Given the description of an element on the screen output the (x, y) to click on. 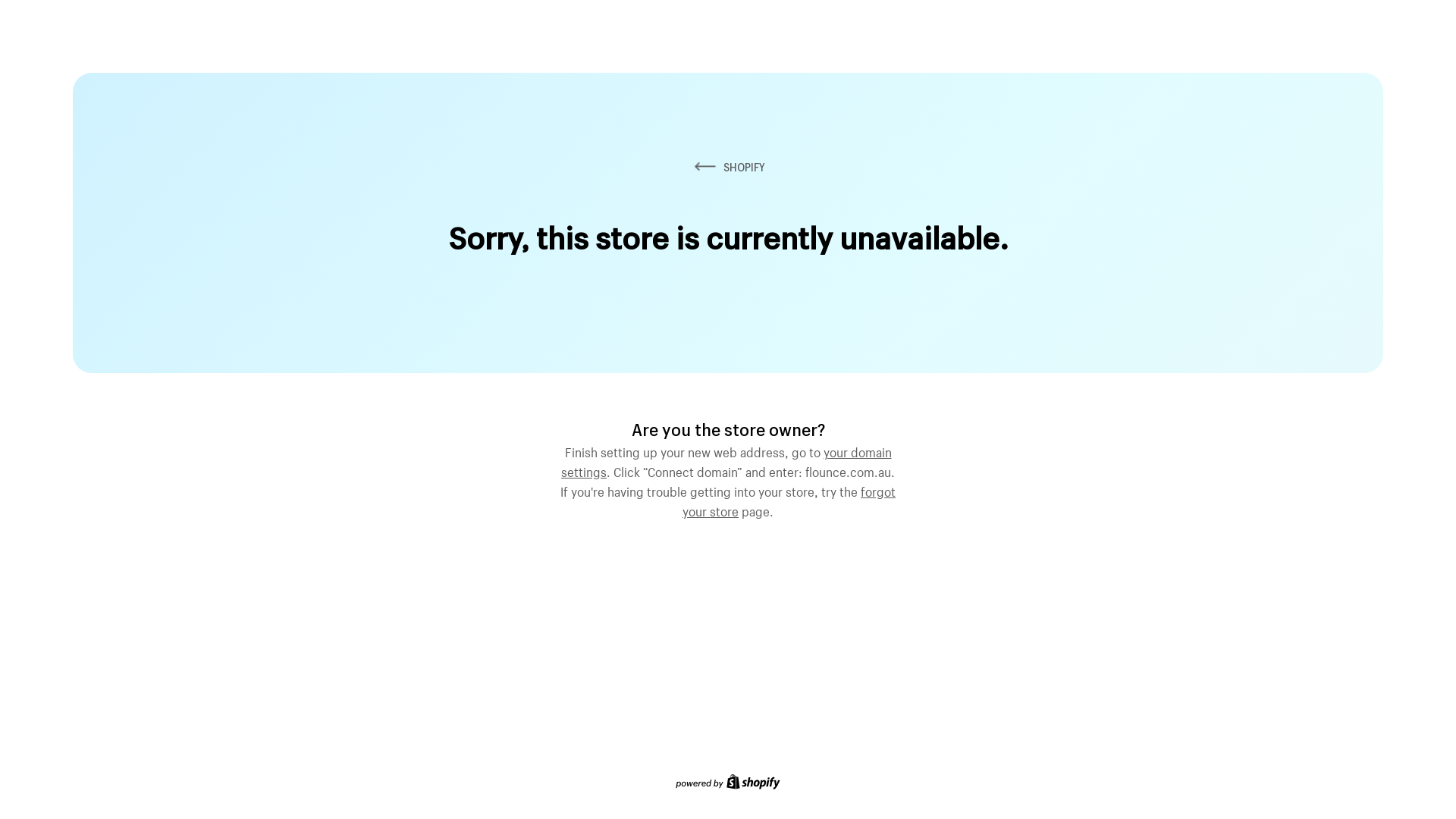
forgot your store Element type: text (788, 499)
SHOPIFY Element type: text (727, 167)
your domain settings Element type: text (726, 460)
